Given the description of an element on the screen output the (x, y) to click on. 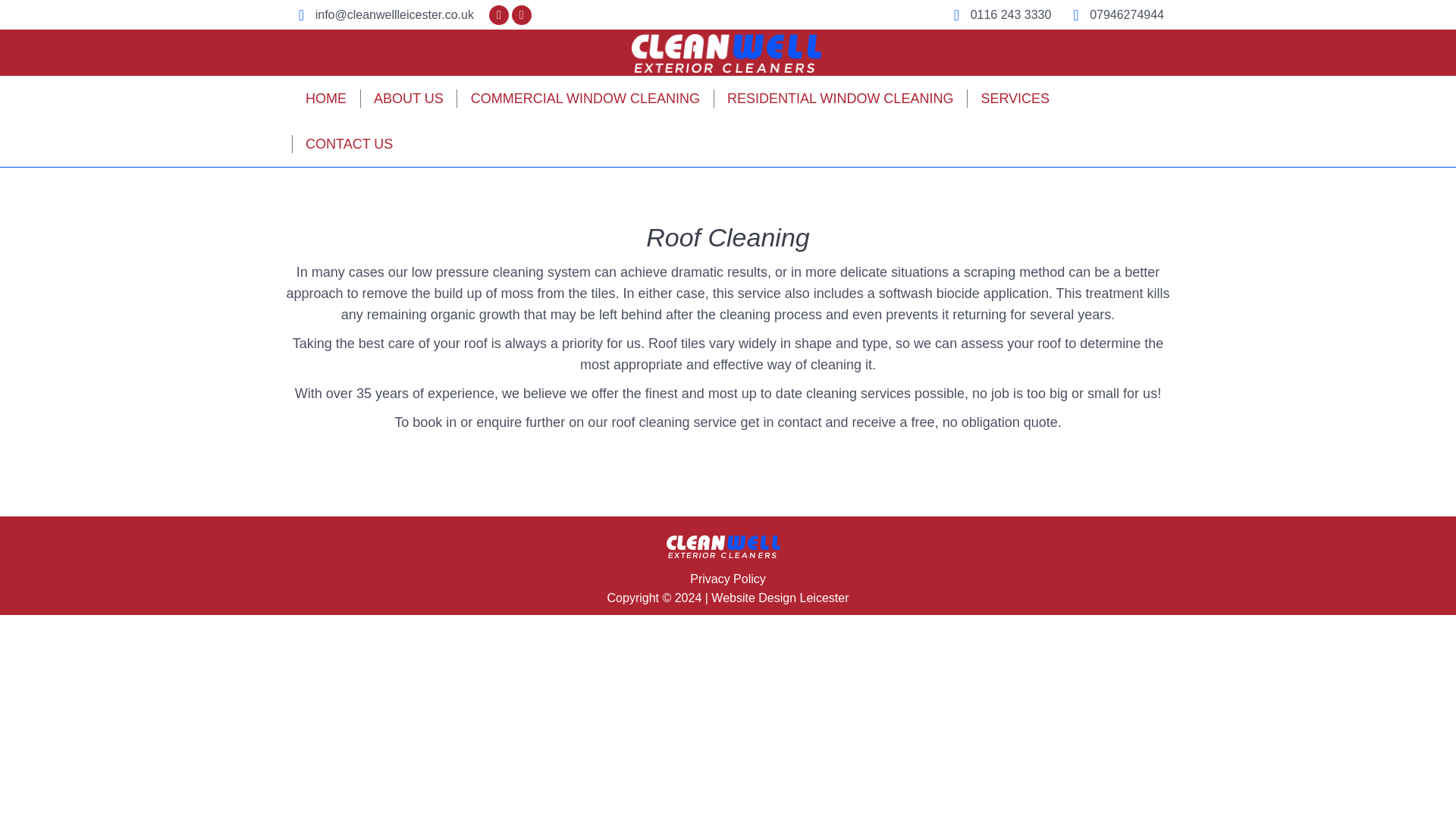
COMMERCIAL WINDOW CLEANING (585, 97)
Instagram page opens in new window (521, 14)
HOME (325, 97)
SERVICES (1014, 97)
Privacy Policy (727, 578)
RESIDENTIAL WINDOW CLEANING (839, 97)
07946274944 (1114, 14)
CONTACT US (349, 143)
Facebook page opens in new window (498, 14)
Facebook page opens in new window (498, 14)
